Given the description of an element on the screen output the (x, y) to click on. 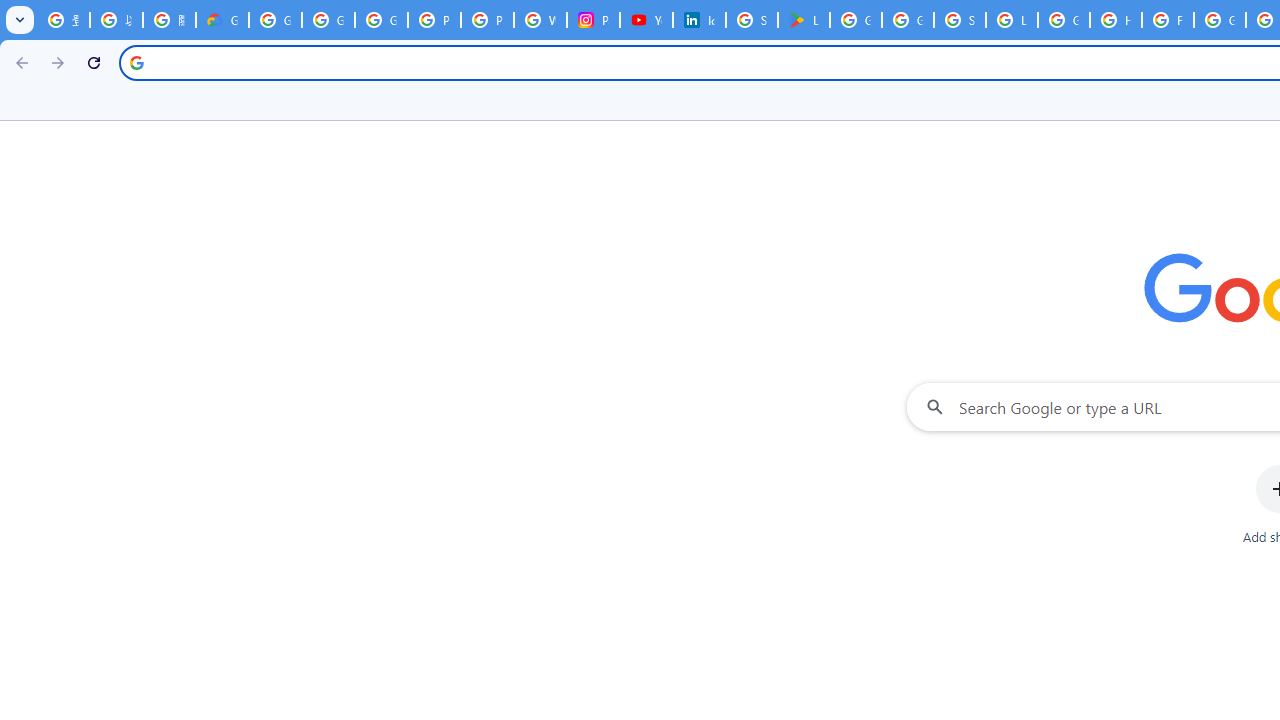
Privacy Help Center - Policies Help (434, 20)
Privacy Help Center - Policies Help (487, 20)
Sign in - Google Accounts (751, 20)
YouTube Culture & Trends - On The Rise: Handcam Videos (646, 20)
